Given the description of an element on the screen output the (x, y) to click on. 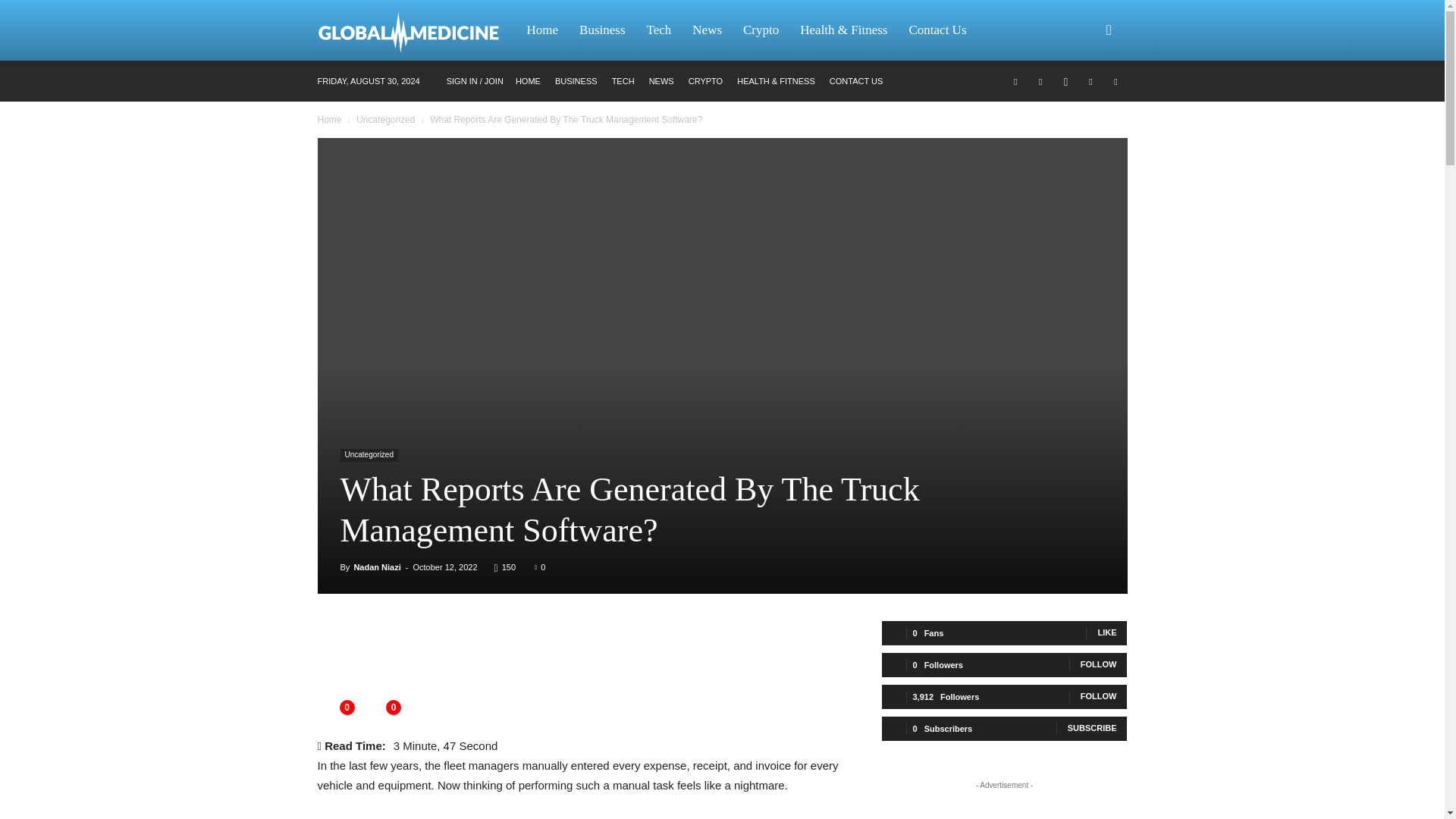
Contact Us (937, 30)
HOME (527, 80)
DailyTimeZone (416, 30)
BUSINESS (575, 80)
View all posts in Uncategorized (385, 119)
Business (601, 30)
Crypto (760, 30)
Search (1085, 102)
TECH (622, 80)
NEWS (661, 80)
